Given the description of an element on the screen output the (x, y) to click on. 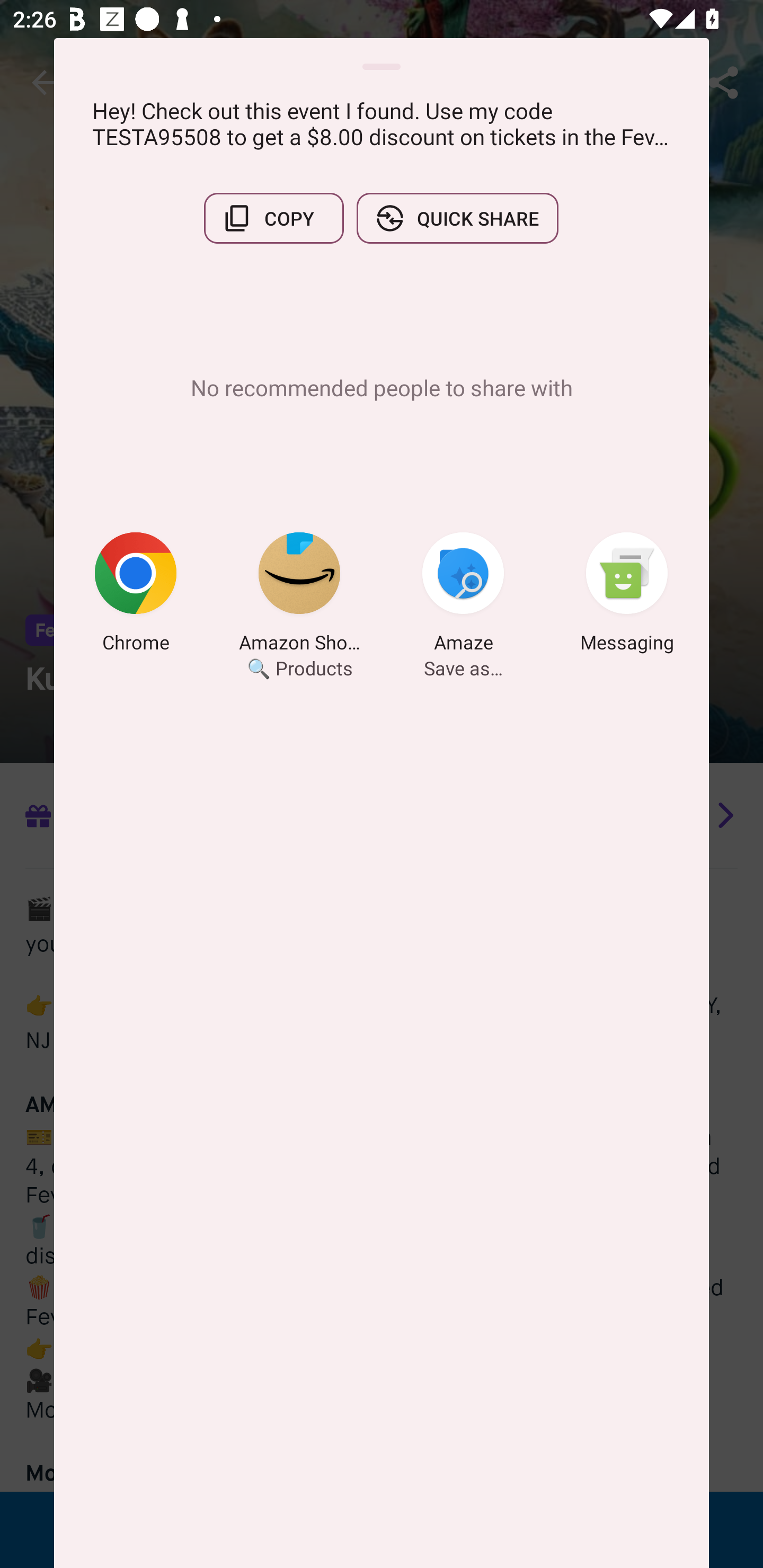
COPY (273, 218)
QUICK SHARE (457, 218)
Chrome (135, 594)
Amazon Shopping 🔍 Products (299, 594)
Amaze Save as… (463, 594)
Messaging (626, 594)
